Given the description of an element on the screen output the (x, y) to click on. 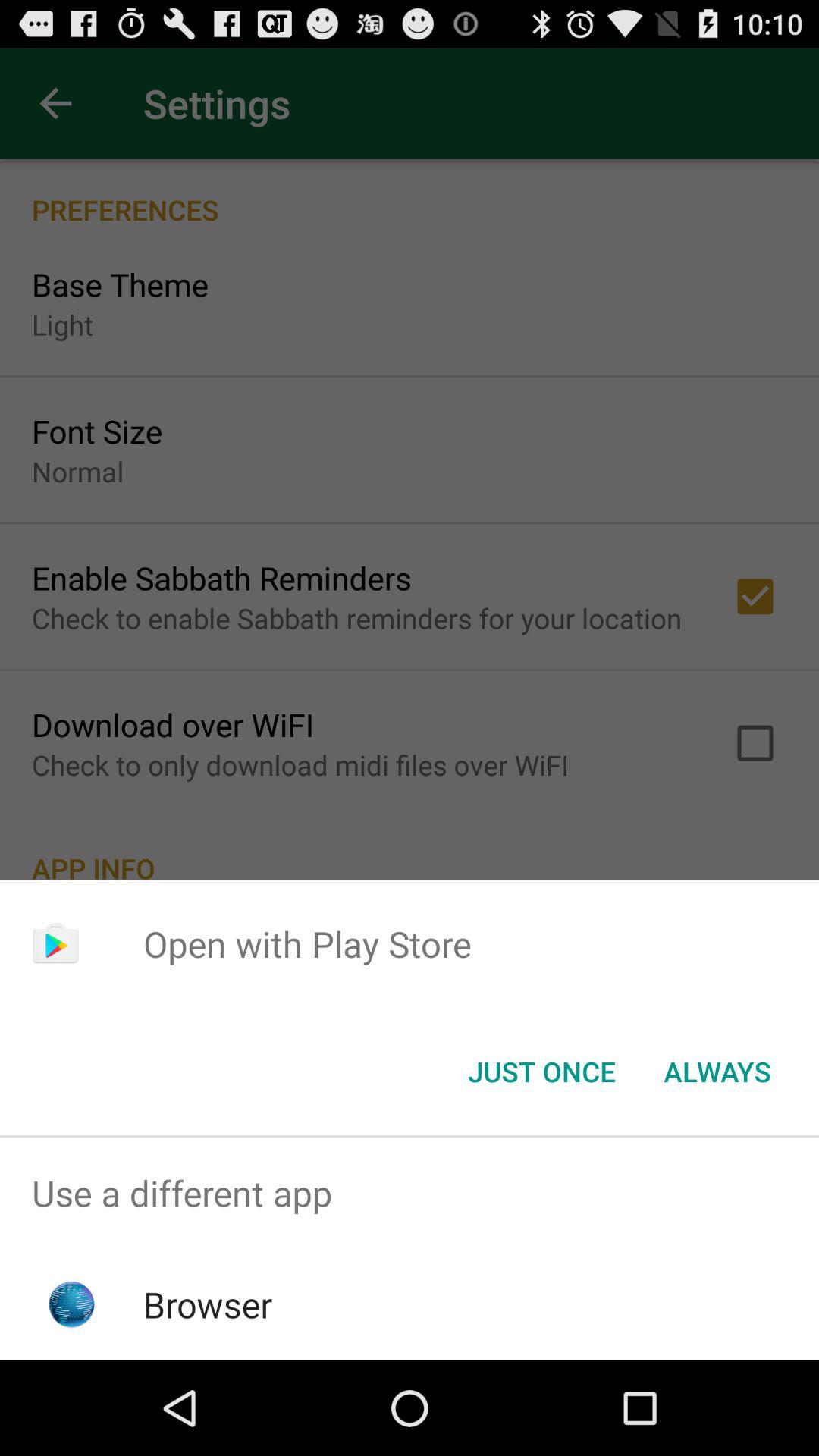
turn off button to the right of just once icon (717, 1071)
